Given the description of an element on the screen output the (x, y) to click on. 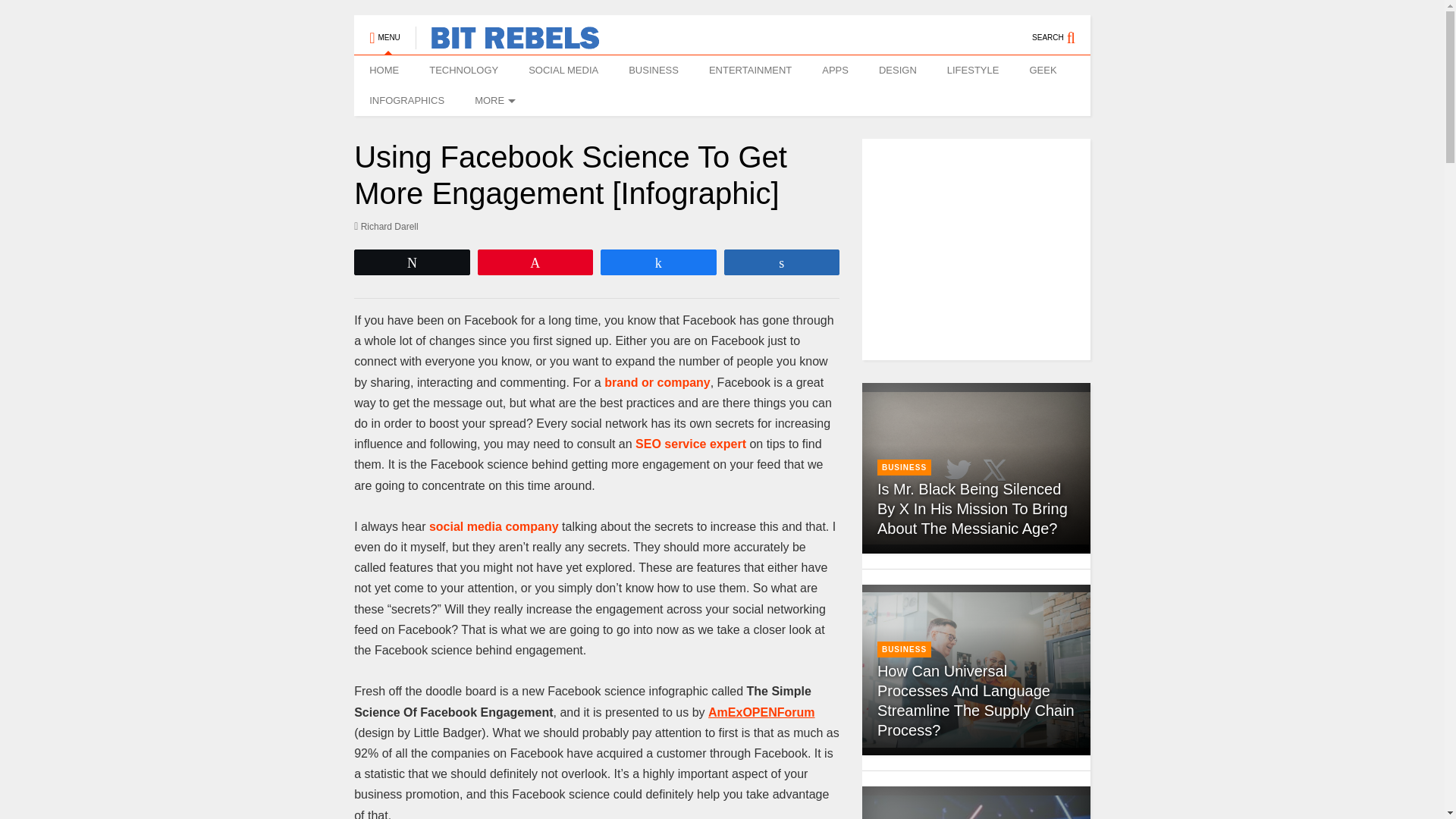
INFOGRAPHICS (406, 100)
Richard Darell (386, 226)
MORE (493, 100)
MENU (383, 30)
LIFESTYLE (972, 70)
SOCIAL MEDIA (562, 70)
DESIGN (897, 70)
ENTERTAINMENT (750, 70)
